Given the description of an element on the screen output the (x, y) to click on. 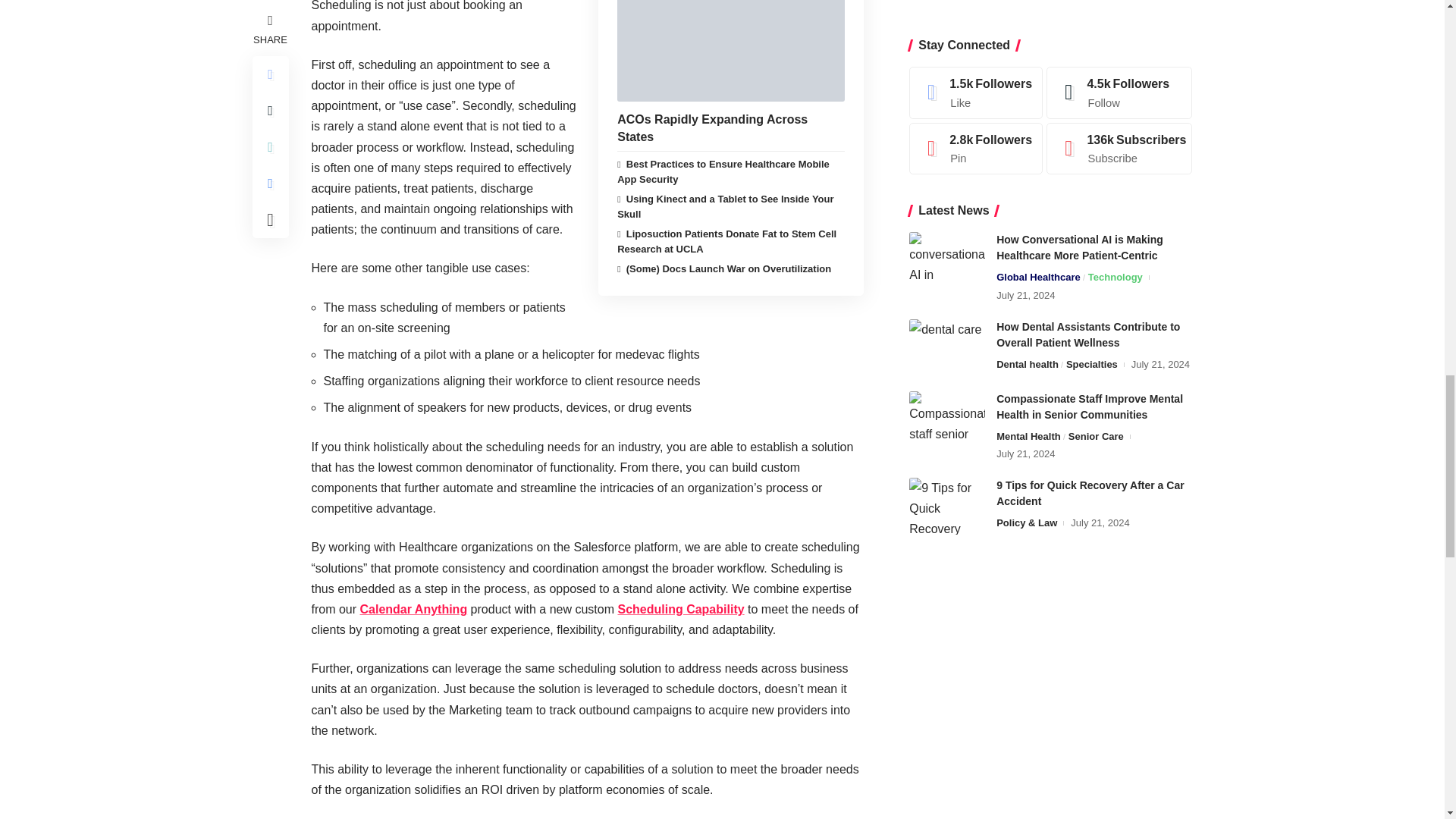
ACOs Rapidly Expanding Across States (730, 50)
